Given the description of an element on the screen output the (x, y) to click on. 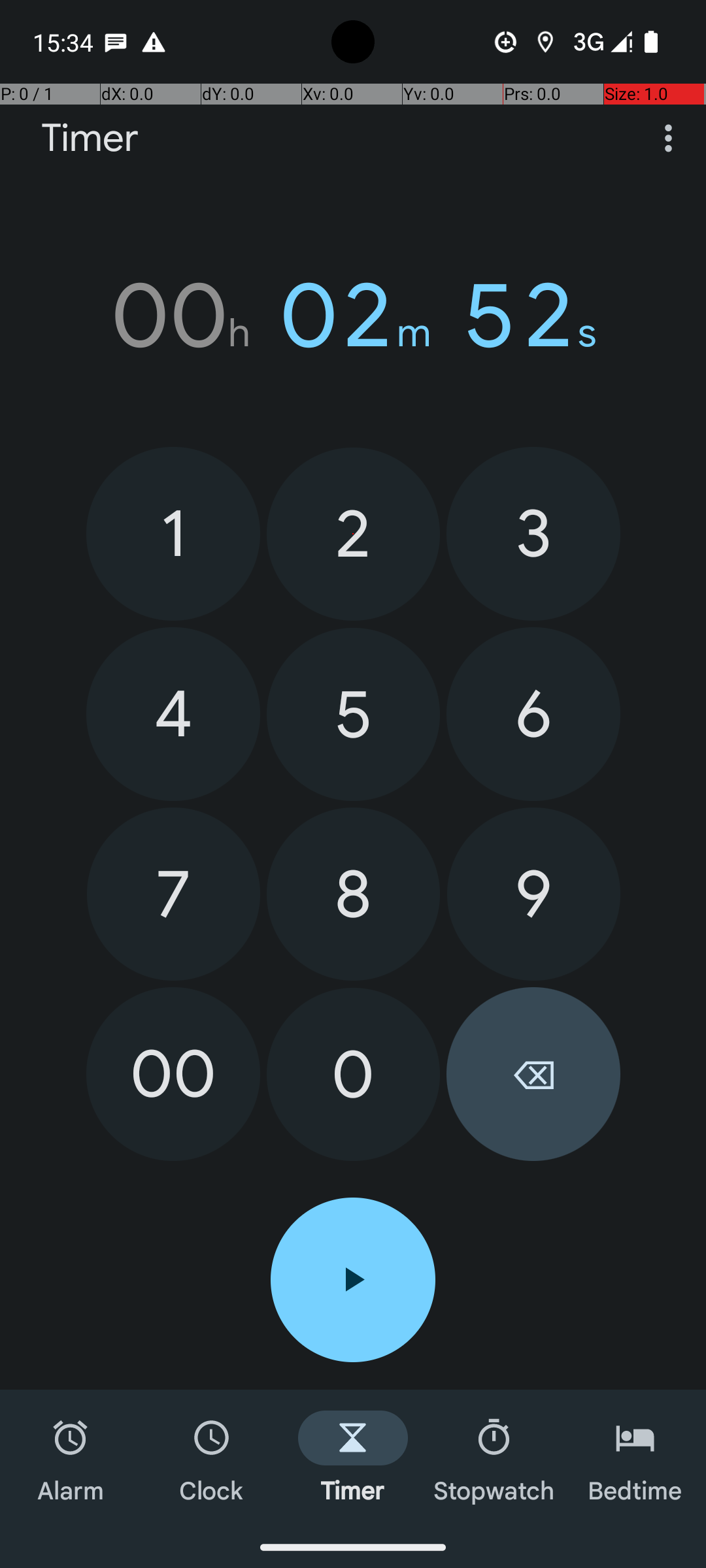
Timer Element type: android.widget.TextView (89, 138)
00h 02m 52s Element type: android.widget.TextView (353, 315)
1 Element type: android.widget.Button (173, 533)
2 Element type: android.widget.Button (352, 533)
3 Element type: android.widget.Button (533, 533)
4 Element type: android.widget.Button (173, 713)
5 Element type: android.widget.Button (352, 713)
6 Element type: android.widget.Button (533, 713)
7 Element type: android.widget.Button (173, 893)
8 Element type: android.widget.Button (352, 893)
9 Element type: android.widget.Button (533, 893)
00 Element type: android.widget.Button (173, 1073)
0 Element type: android.widget.Button (352, 1073)
⌫ Element type: android.widget.Button (533, 1073)
Start Element type: android.widget.Button (352, 1279)
Alarm Element type: android.widget.FrameLayout (70, 1457)
Clock Element type: android.widget.FrameLayout (211, 1457)
Stopwatch Element type: android.widget.FrameLayout (493, 1457)
Bedtime Element type: android.widget.FrameLayout (635, 1457)
Data Saver is on Element type: android.widget.ImageView (505, 41)
